Given the description of an element on the screen output the (x, y) to click on. 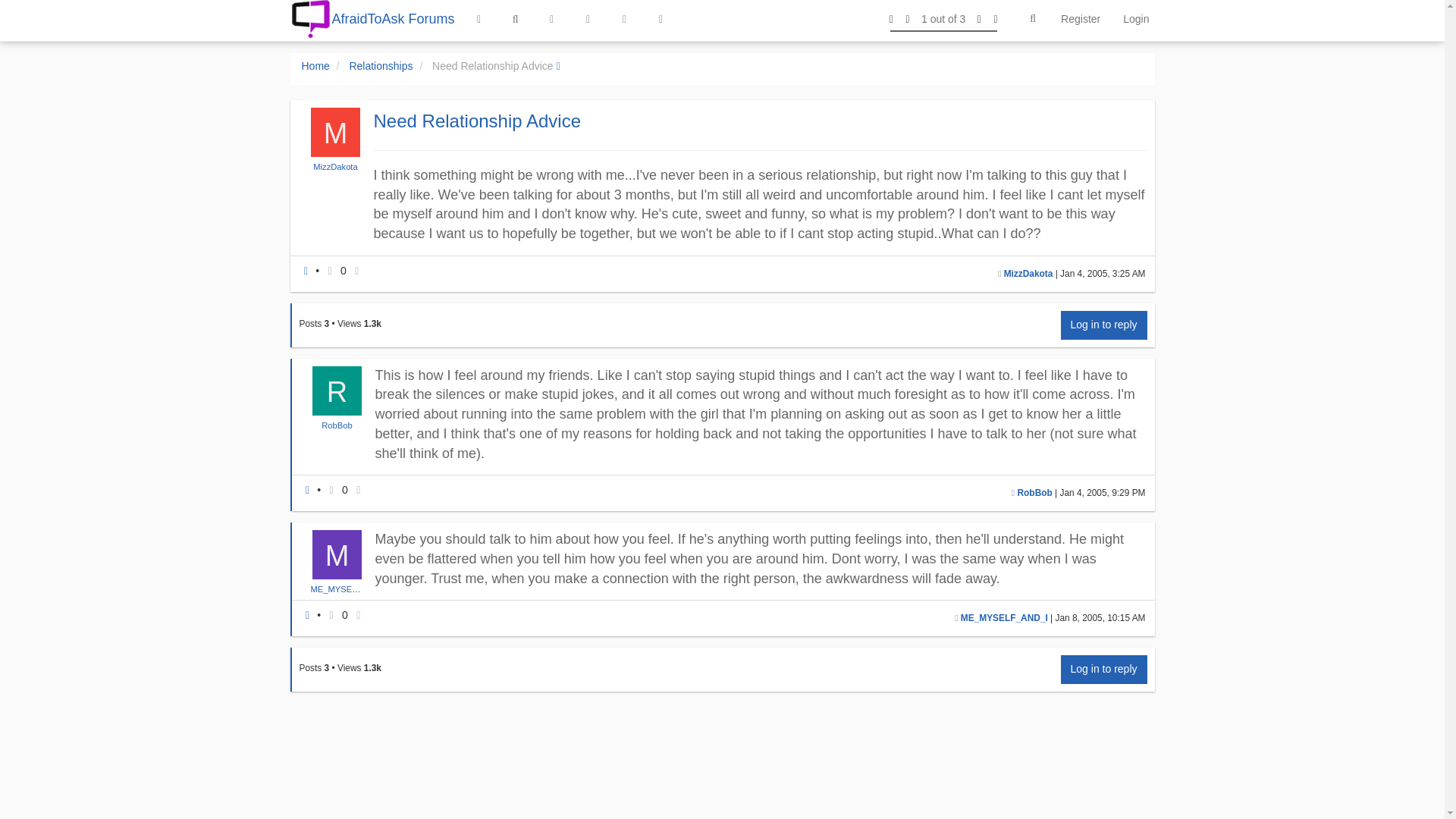
Login (1136, 18)
Home (315, 65)
1307 (372, 323)
Register (1080, 18)
Relationships (380, 65)
Jan 4, 2005, 3:25 AM (1101, 273)
RobBob (337, 425)
MizzDakota (1028, 273)
RobBob (1034, 492)
M (335, 139)
Search (1032, 18)
MizzDakota (334, 166)
R (337, 398)
MizzDakota (335, 166)
1 out of 3 (943, 18)
